Given the description of an element on the screen output the (x, y) to click on. 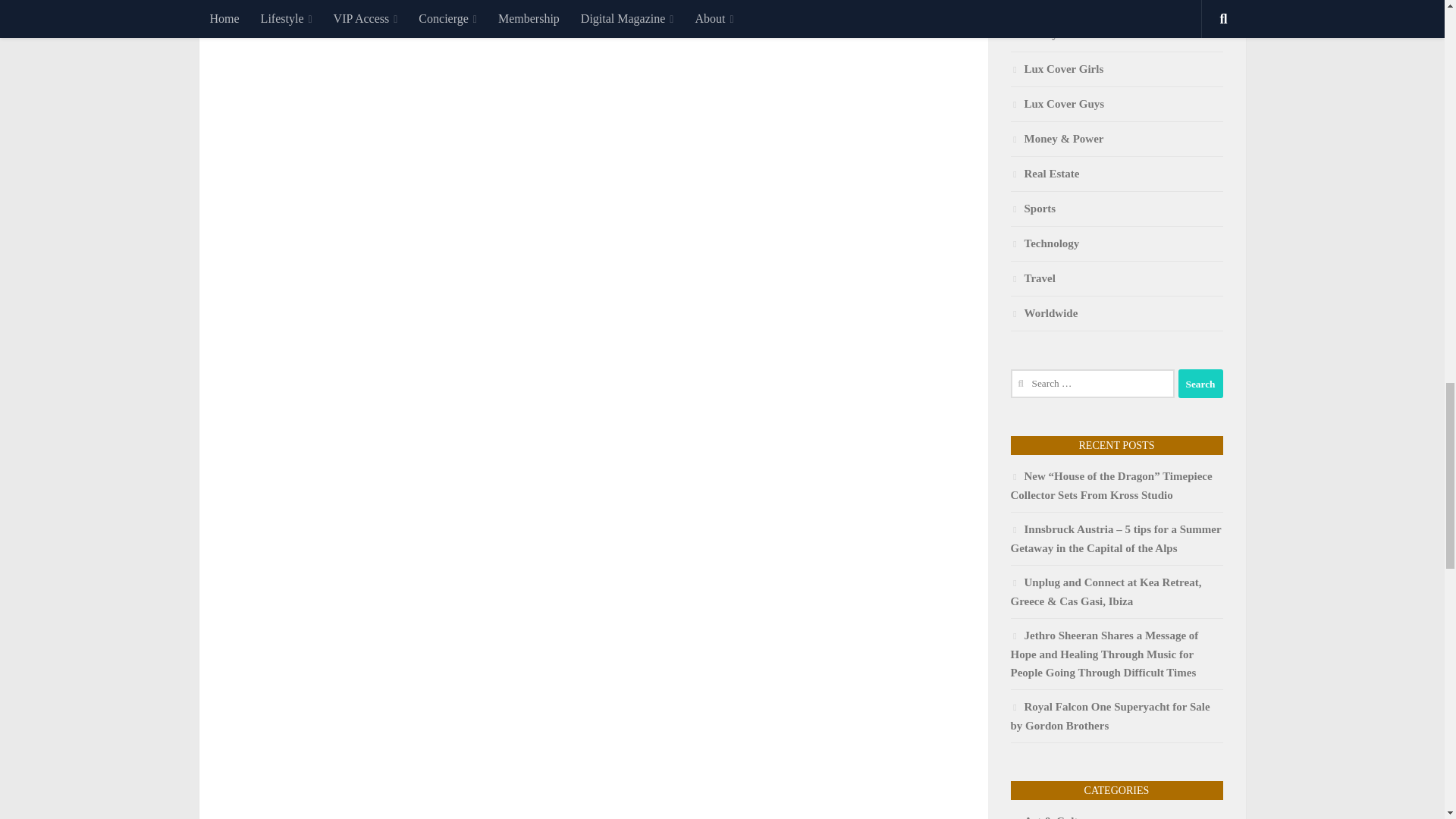
Search (1200, 383)
Search (1200, 383)
